Given the description of an element on the screen output the (x, y) to click on. 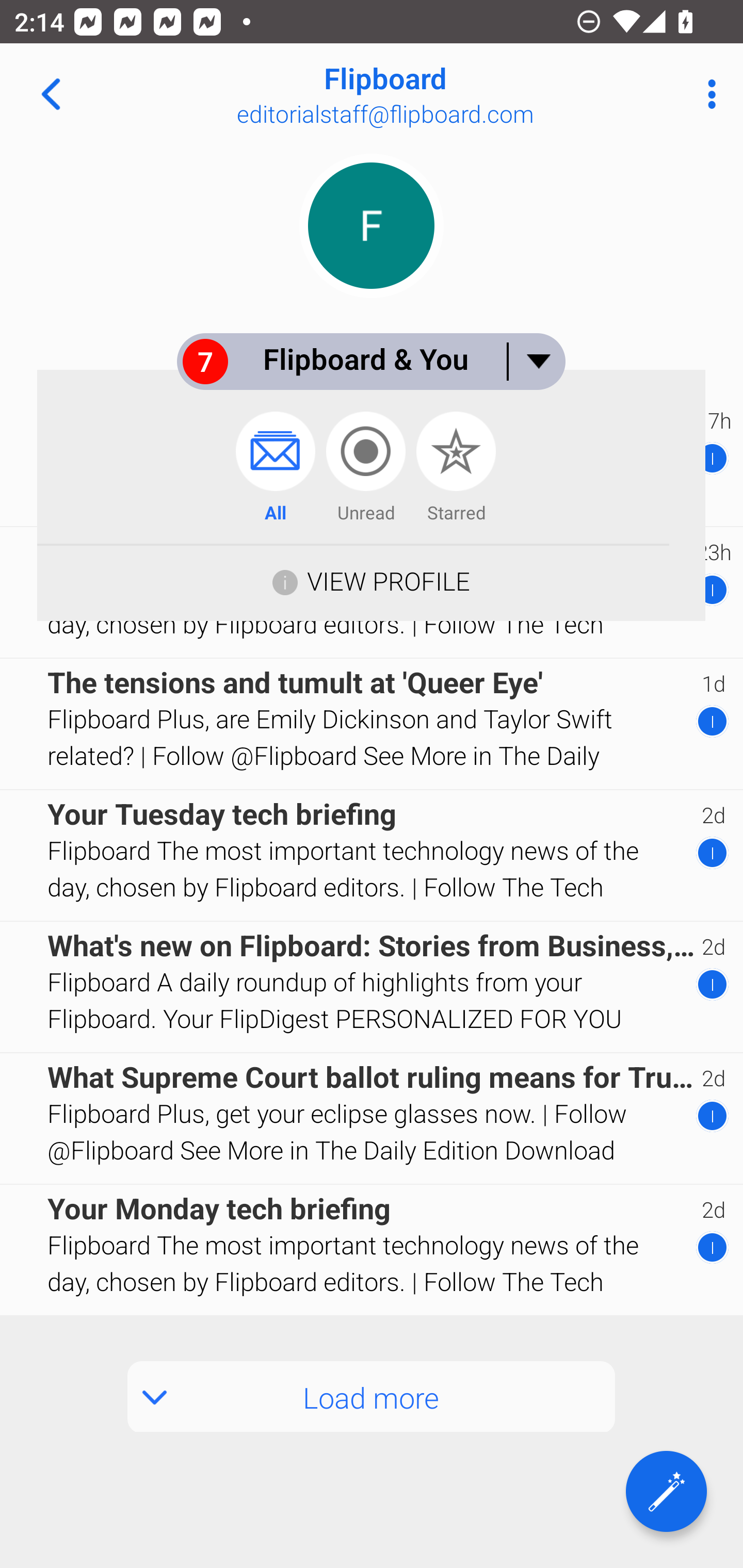
VIEW PROFILE (371, 580)
VIEW PROFILE (388, 580)
